Given the description of an element on the screen output the (x, y) to click on. 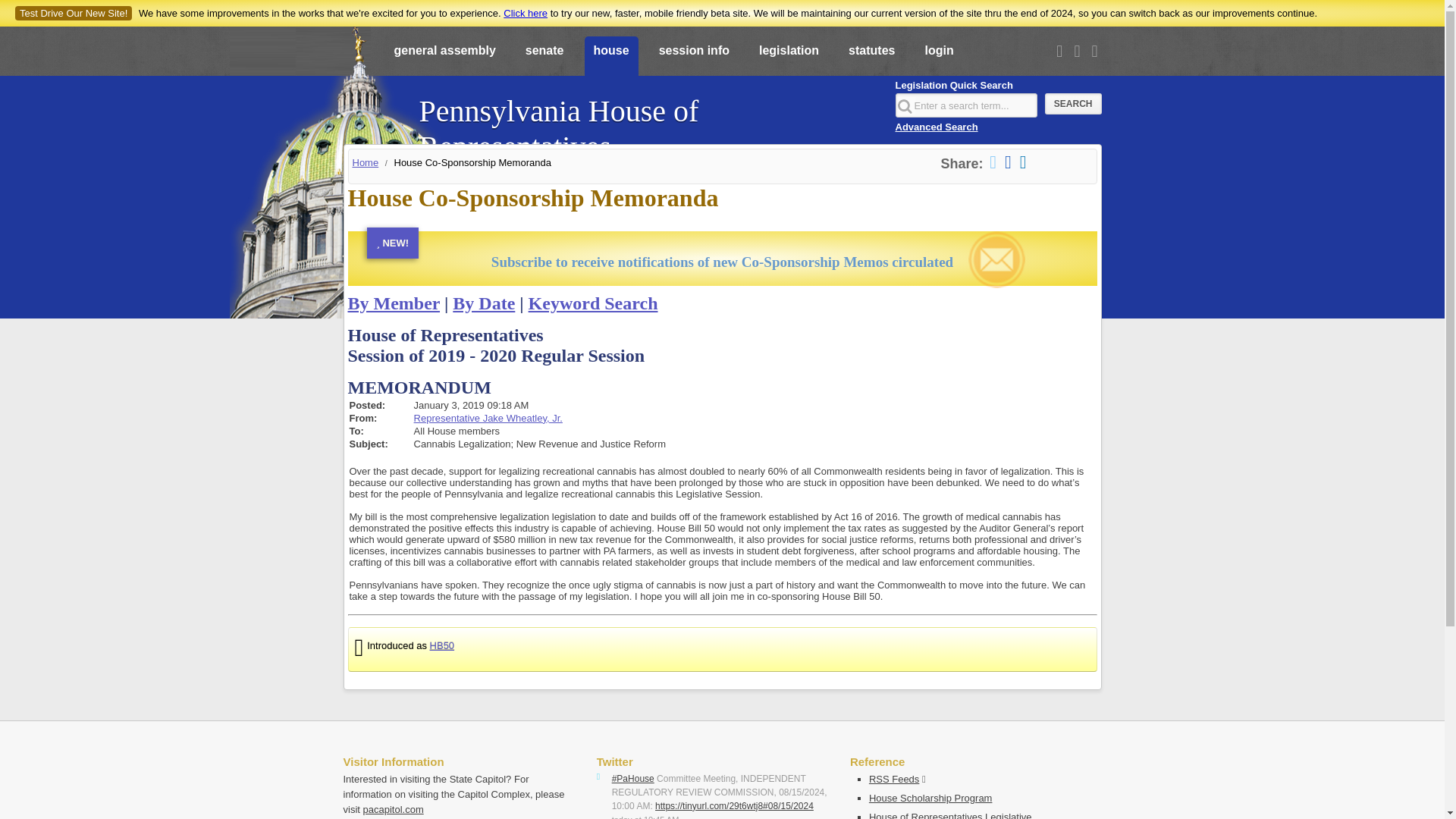
legislation (788, 57)
login (938, 57)
session info (693, 57)
Click here (525, 12)
Search (1073, 103)
statutes (872, 57)
Advanced Search (935, 126)
Search (1073, 103)
Pennsylvania House of Representatives (647, 120)
senate (544, 57)
